Given the description of an element on the screen output the (x, y) to click on. 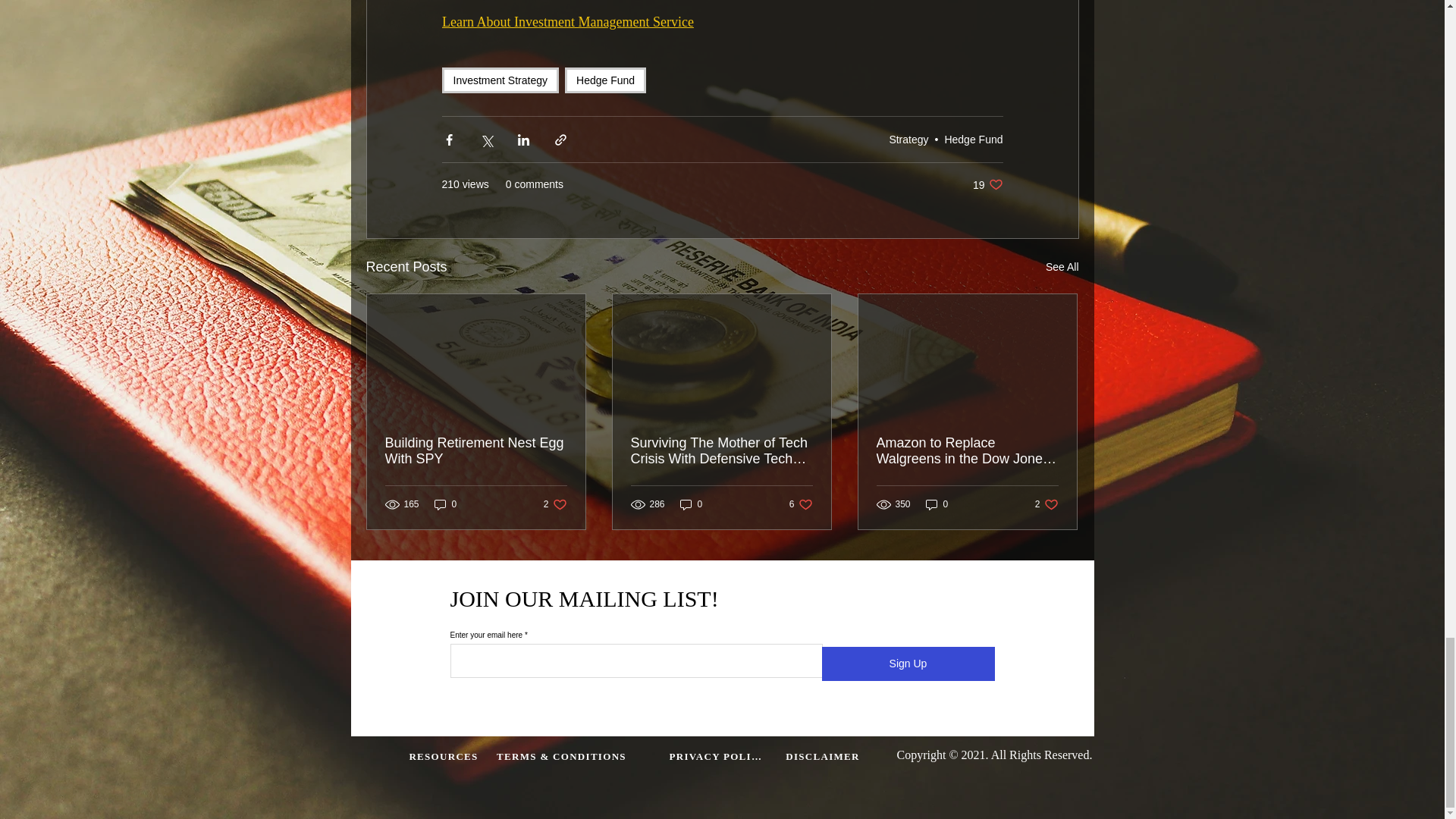
See All (1061, 267)
Hedge Fund (605, 80)
Investment Strategy (500, 80)
Hedge Fund (987, 184)
Strategy (973, 139)
Learn About Investment Management Service (908, 139)
